Given the description of an element on the screen output the (x, y) to click on. 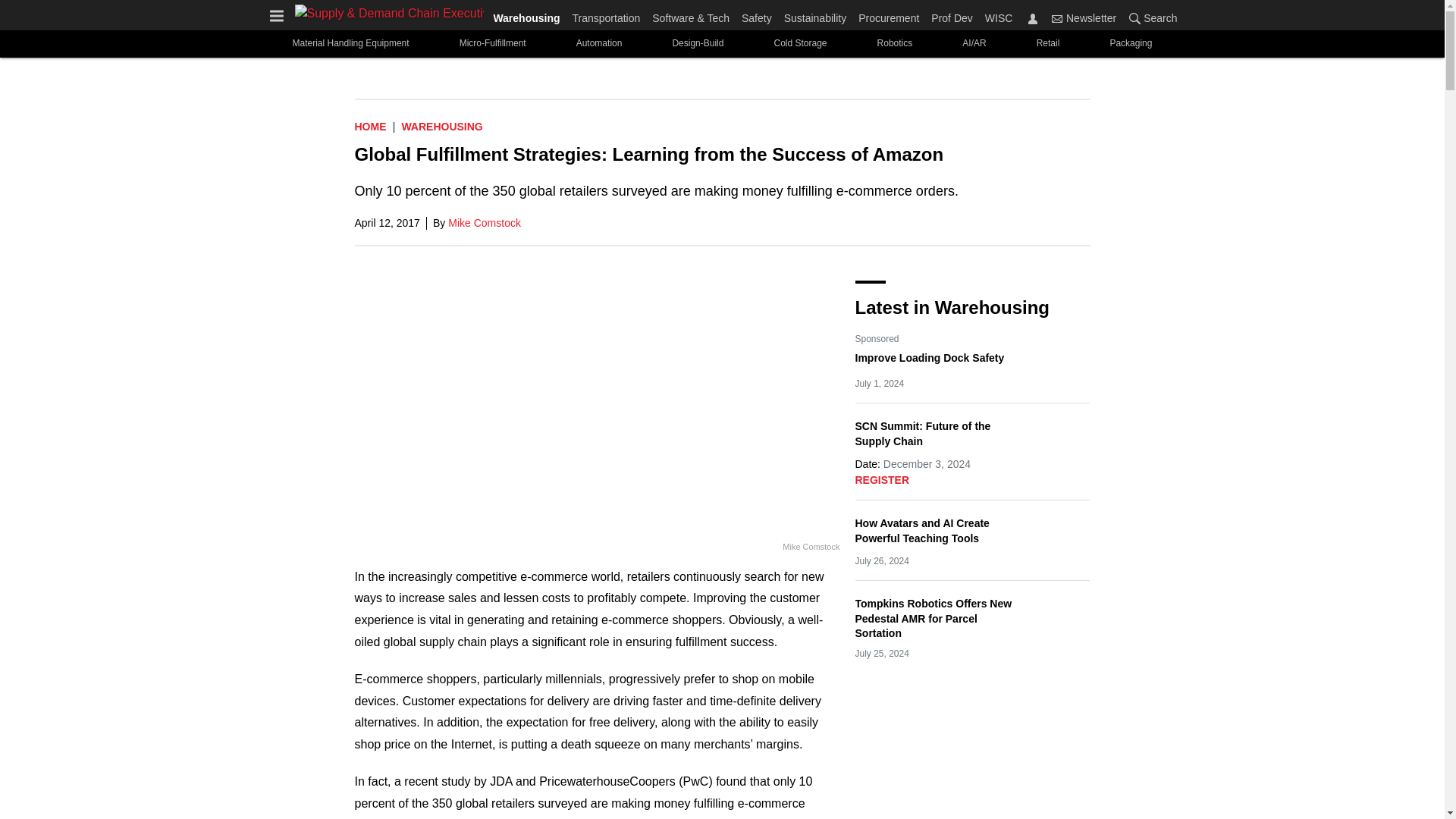
Sustainability (815, 15)
Micro-Fulfillment (492, 43)
Sponsored (877, 338)
Warehousing (529, 15)
Newsletter (1083, 17)
Packaging (1130, 43)
Home (371, 126)
Automation (599, 43)
Search (1134, 18)
Warehousing (441, 126)
Search (1149, 17)
Procurement (887, 15)
Retail (1047, 43)
Material Handling Equipment (350, 43)
Transportation (606, 15)
